Given the description of an element on the screen output the (x, y) to click on. 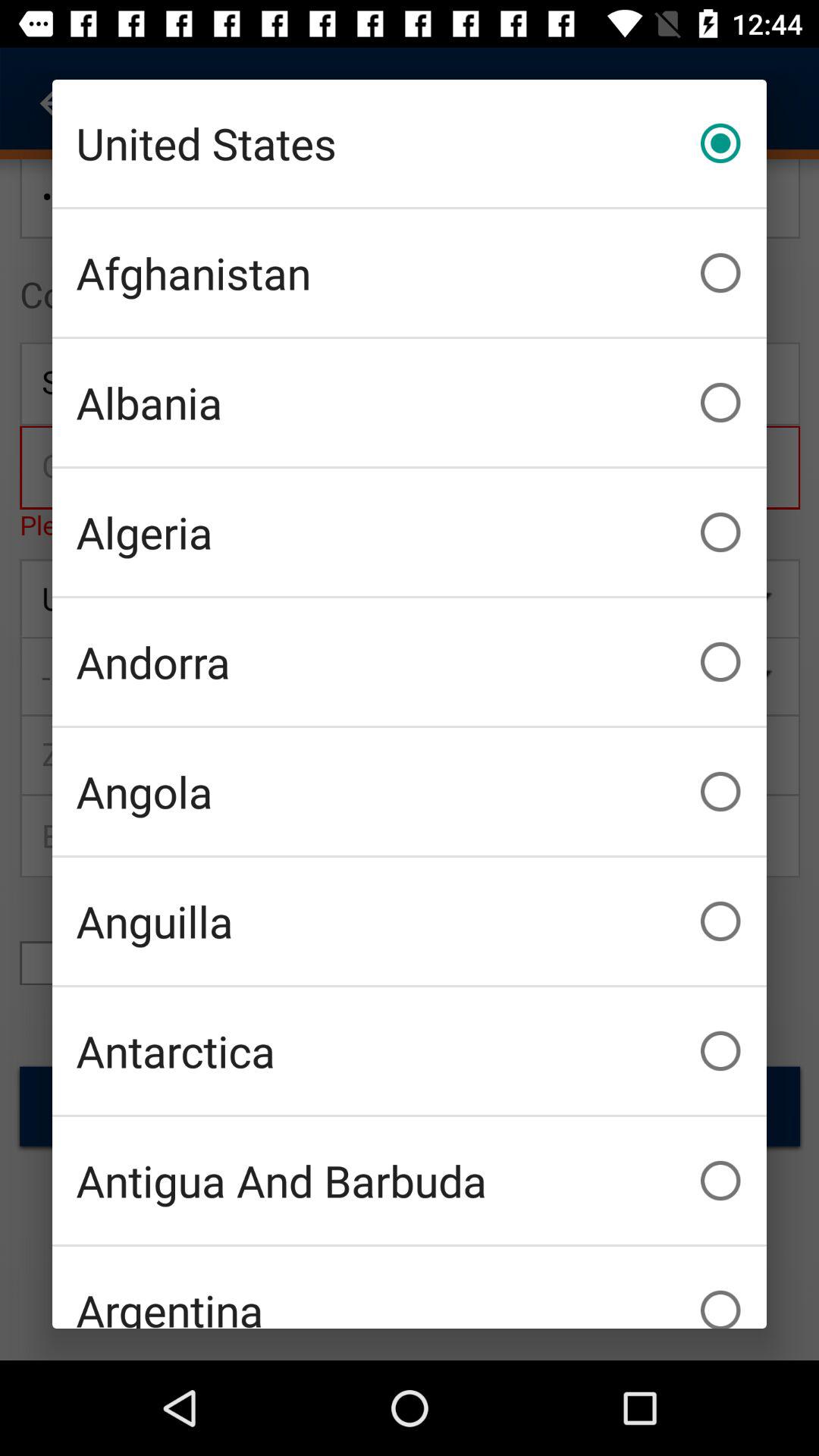
flip to angola item (409, 791)
